Given the description of an element on the screen output the (x, y) to click on. 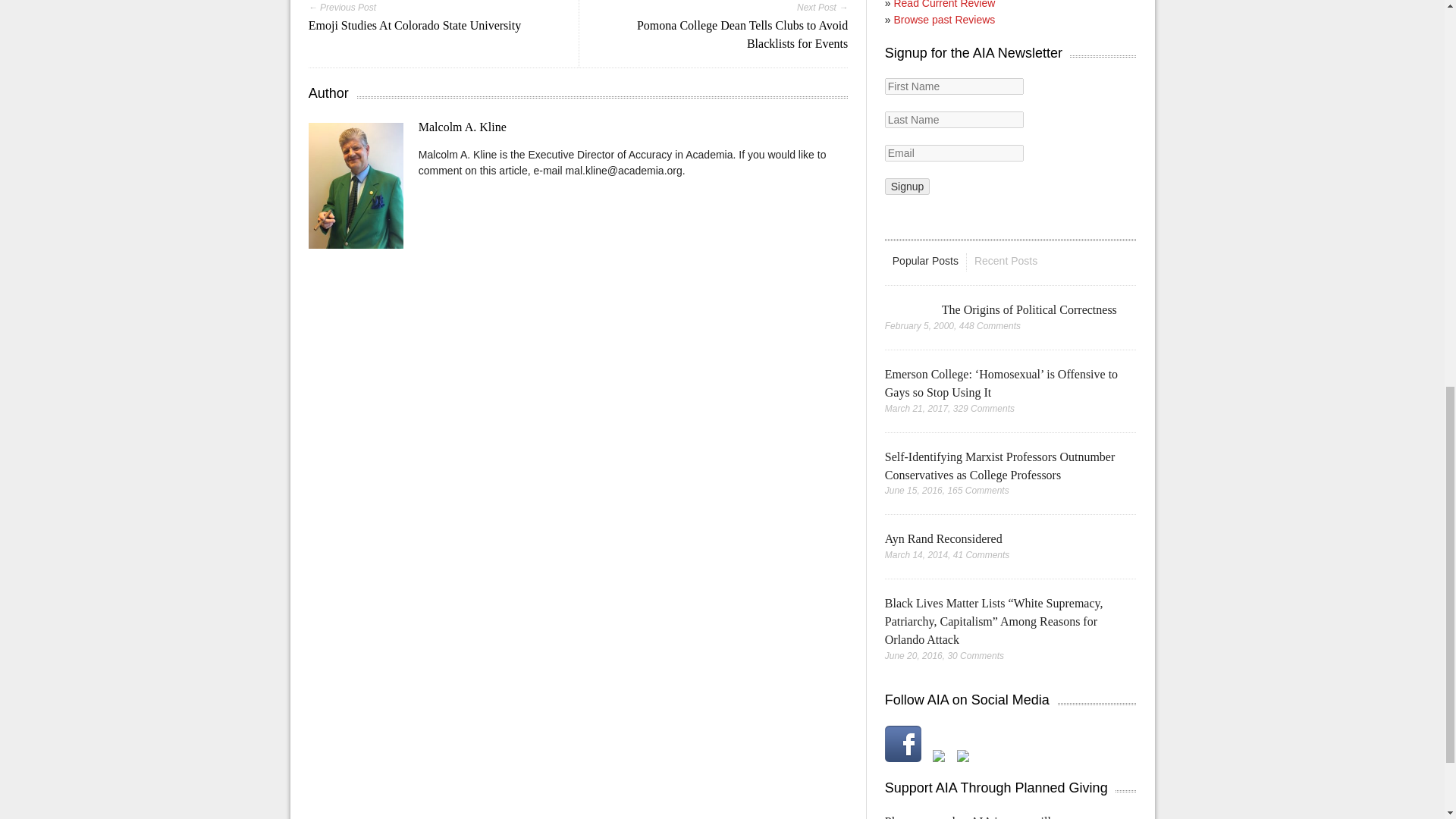
Recent Posts (1005, 261)
Read Current Review (943, 4)
Popular Posts (925, 261)
The Origins of Political Correctness (905, 309)
Browse past Reviews (943, 19)
The Origins of Political Correctness (1029, 309)
Malcolm A. Kline (462, 126)
Posts by Malcolm A. Kline (462, 126)
Ayn Rand Reconsidered (944, 538)
